Given the description of an element on the screen output the (x, y) to click on. 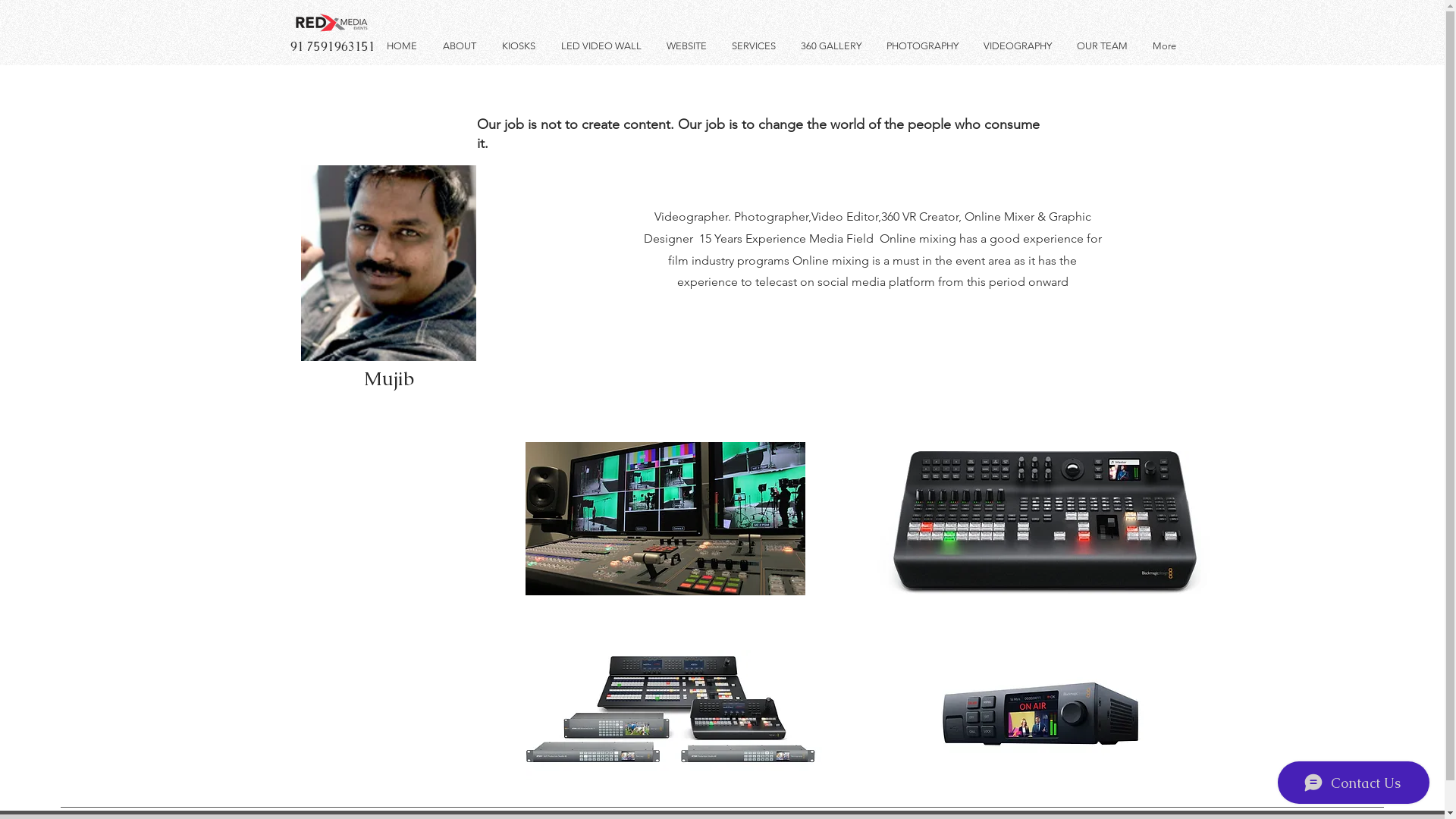
ABOUT Element type: text (459, 46)
LED VIDEO WALL Element type: text (601, 46)
VIDEOGRAPHY Element type: text (1018, 46)
OUR TEAM Element type: text (1102, 46)
HOME Element type: text (402, 46)
PHOTOGRAPHY Element type: text (923, 46)
SERVICES Element type: text (754, 46)
360 GALLERY Element type: text (831, 46)
KIOSKS Element type: text (519, 46)
WEBSITE Element type: text (687, 46)
